Given the description of an element on the screen output the (x, y) to click on. 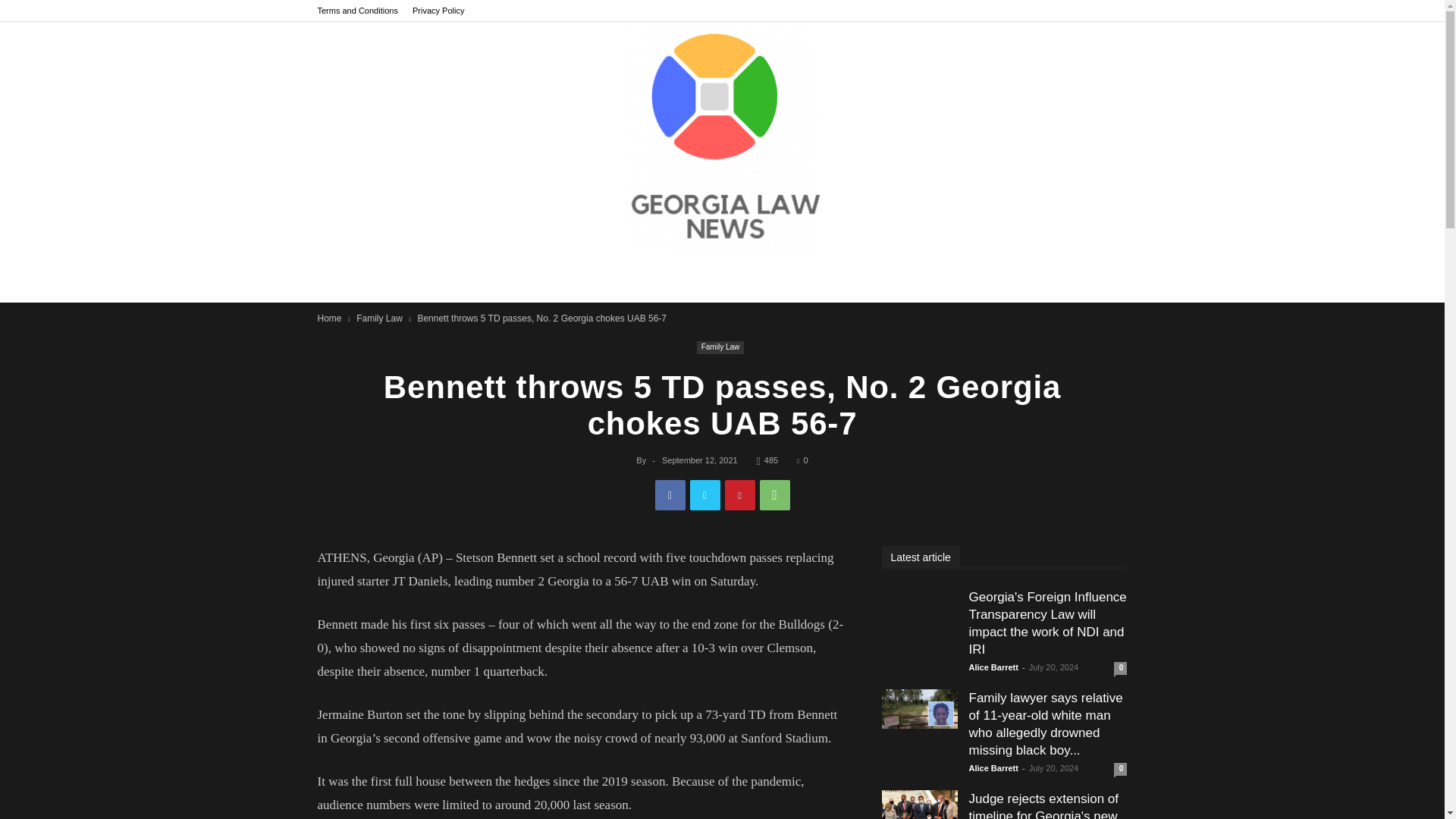
CRIMINAL LAW (487, 275)
Facebook (670, 494)
WORKERS COMPENSATION LAW (963, 275)
WhatsApp (775, 494)
INDIGENT DEFENSE (685, 275)
Terms and Conditions (357, 10)
FAMILY LAW (580, 275)
HOME (411, 275)
View all posts in Family Law (379, 317)
0 (802, 460)
Home (328, 317)
Family Law (720, 347)
Pinterest (740, 494)
IMMIGRATION LAW (807, 275)
Search (1083, 345)
